Given the description of an element on the screen output the (x, y) to click on. 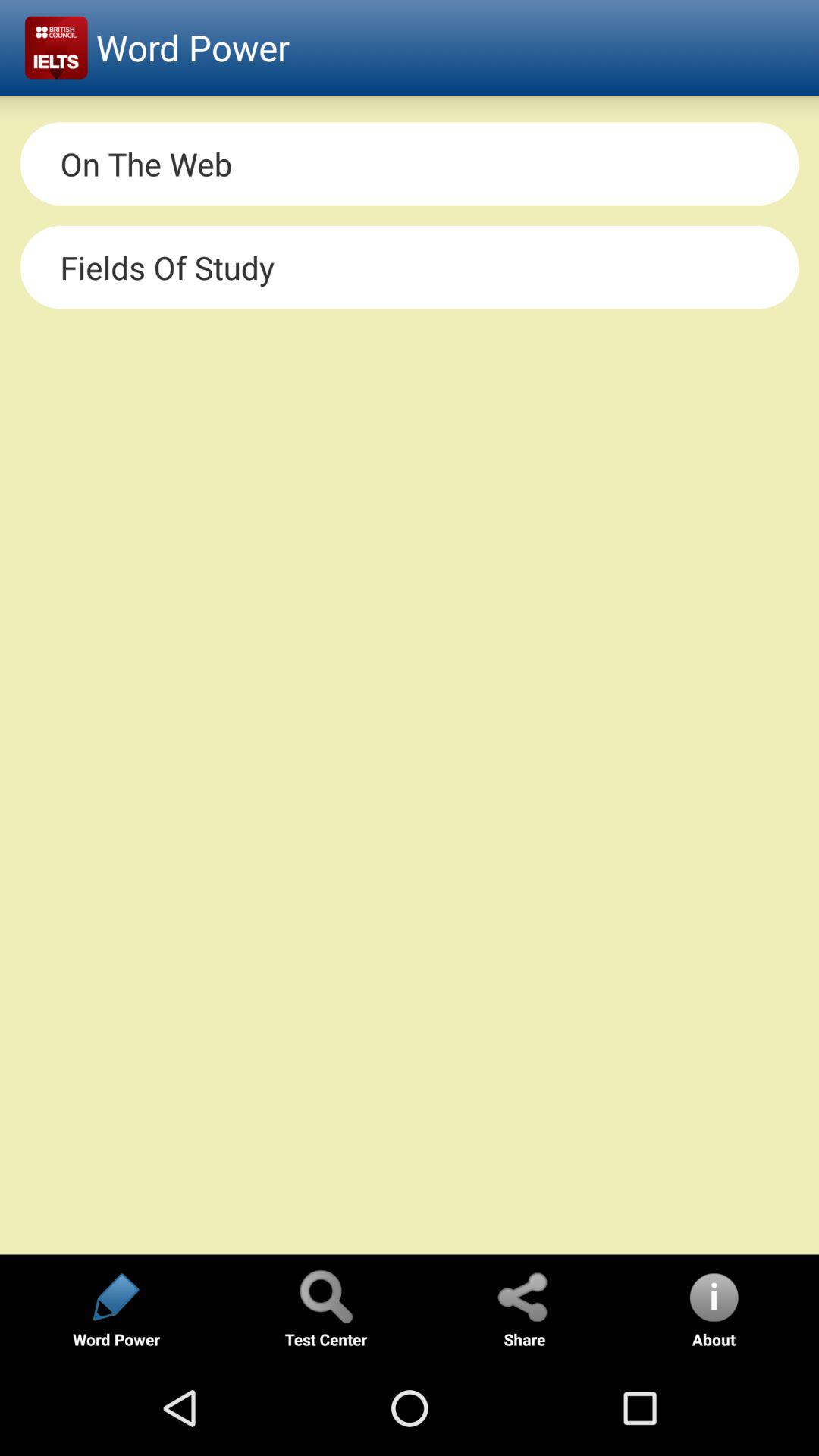
link to test center (325, 1296)
